Given the description of an element on the screen output the (x, y) to click on. 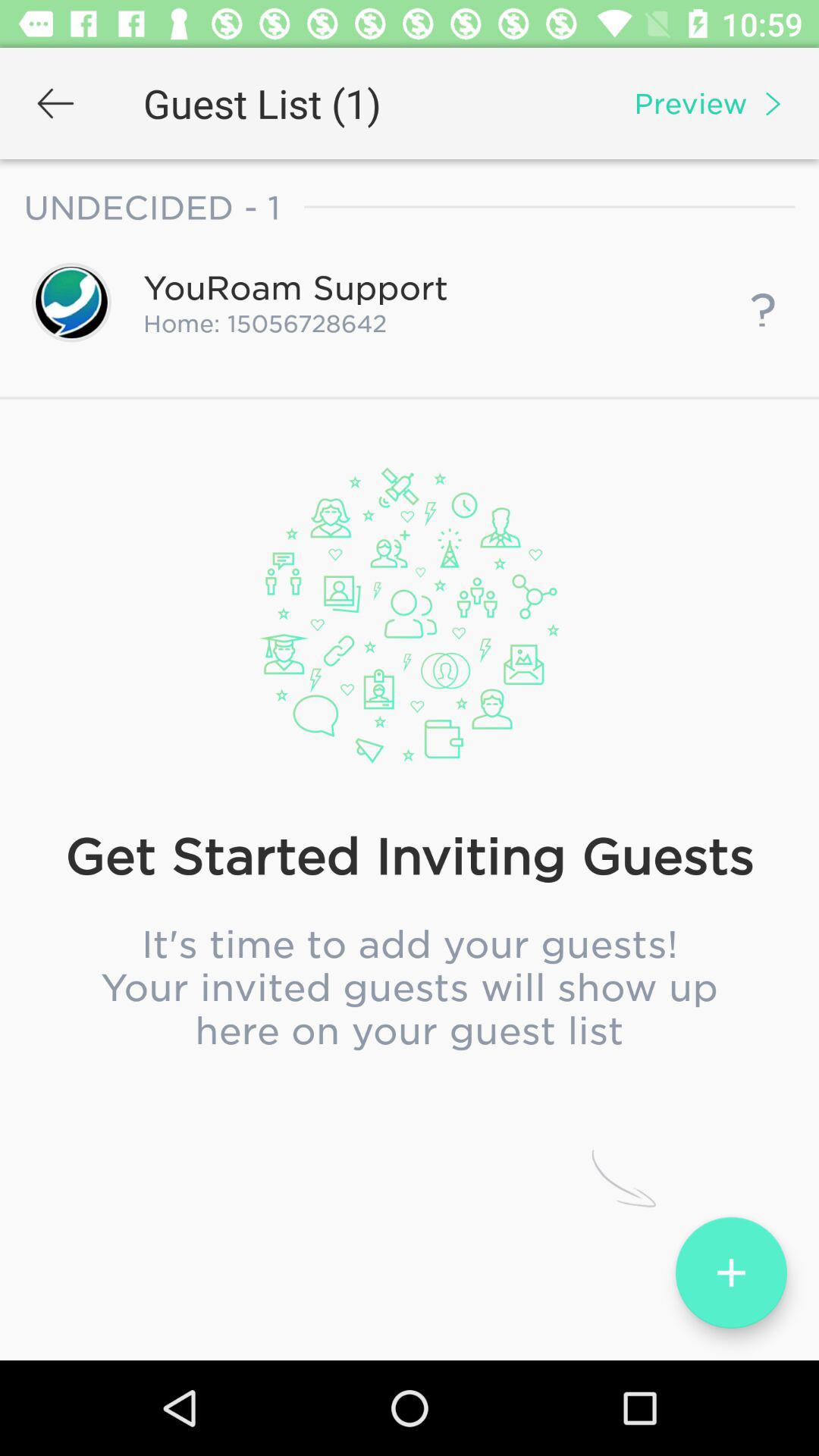
add a new guest (731, 1272)
